Given the description of an element on the screen output the (x, y) to click on. 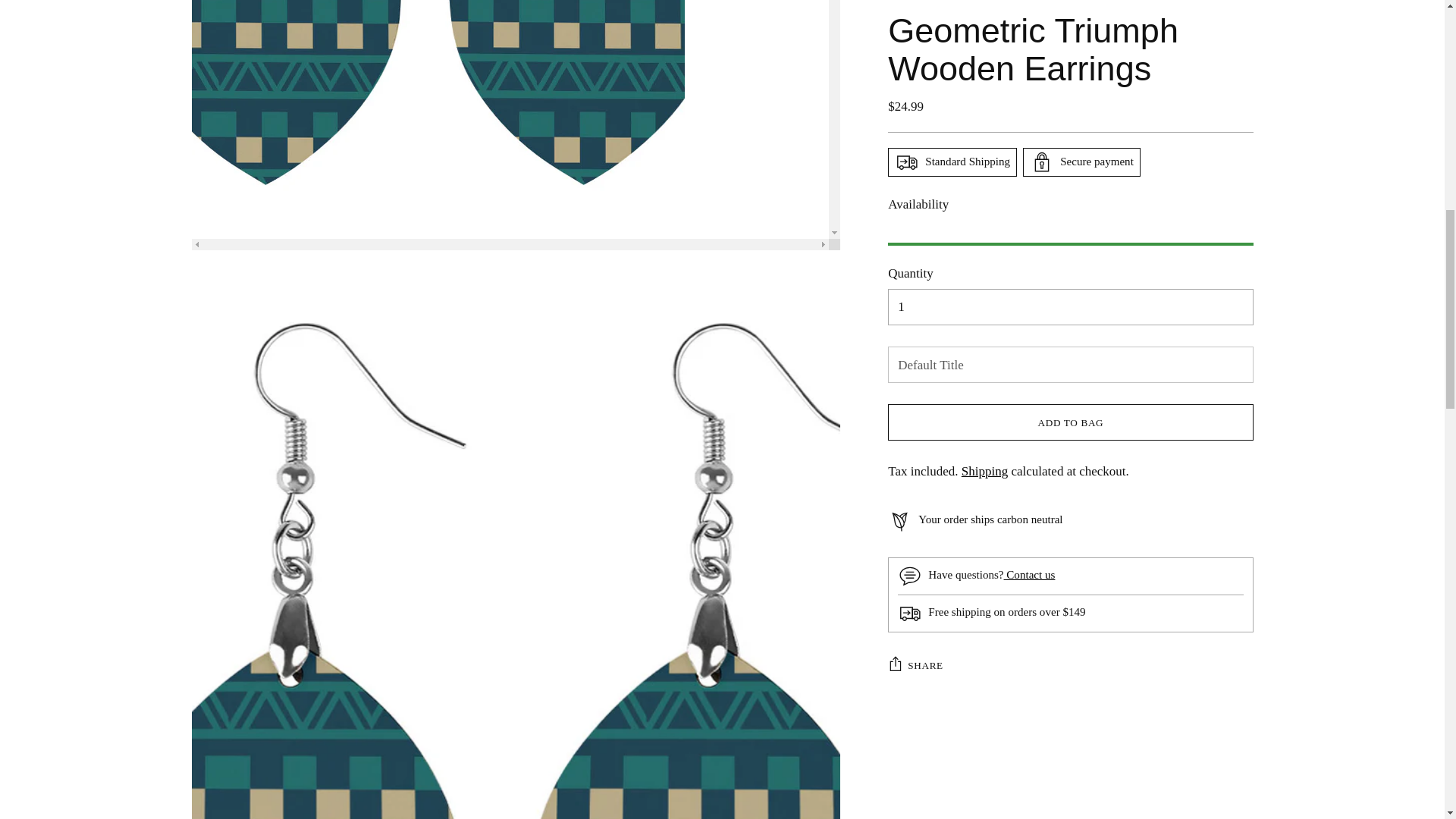
Get In Touch (1029, 73)
